Given the description of an element on the screen output the (x, y) to click on. 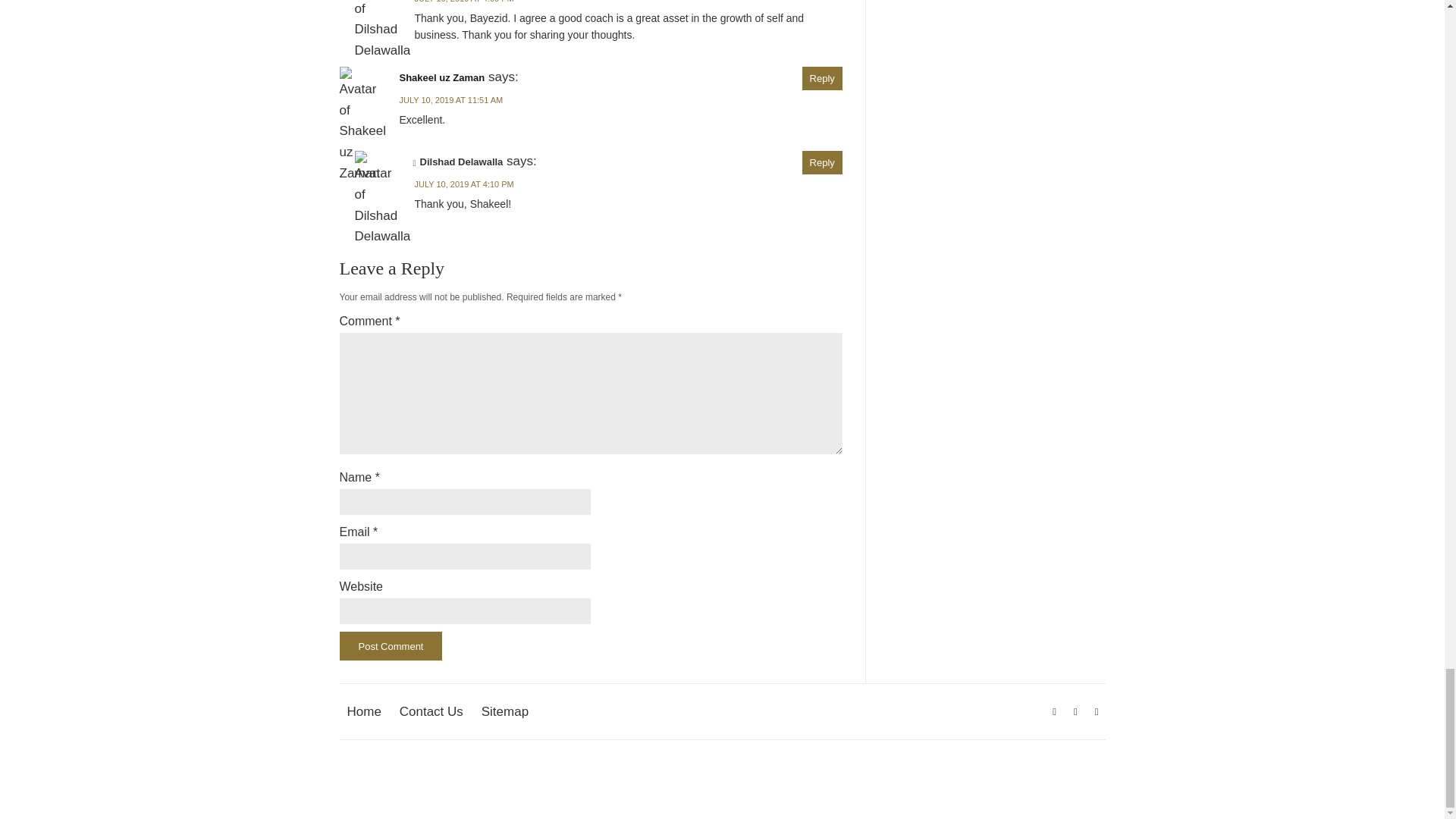
Shakeel uz Zaman (441, 77)
JULY 10, 2019 AT 11:51 AM (450, 99)
JULY 10, 2019 AT 4:10 PM (463, 184)
JULY 10, 2019 AT 4:09 PM (463, 1)
Reply (822, 78)
Post Comment (390, 645)
